Given the description of an element on the screen output the (x, y) to click on. 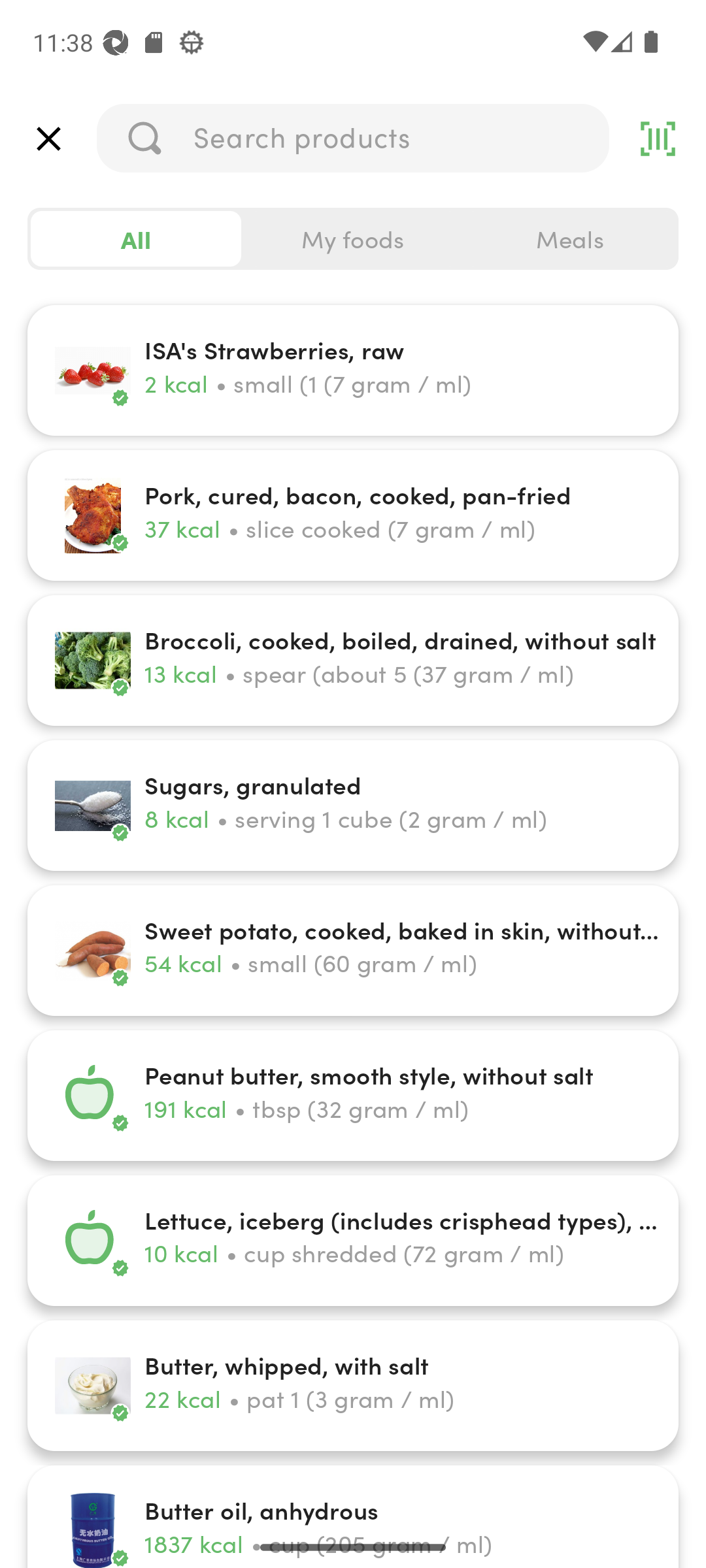
top_left_action (48, 138)
top_right_action (658, 138)
My foods (352, 238)
Meals (569, 238)
